Given the description of an element on the screen output the (x, y) to click on. 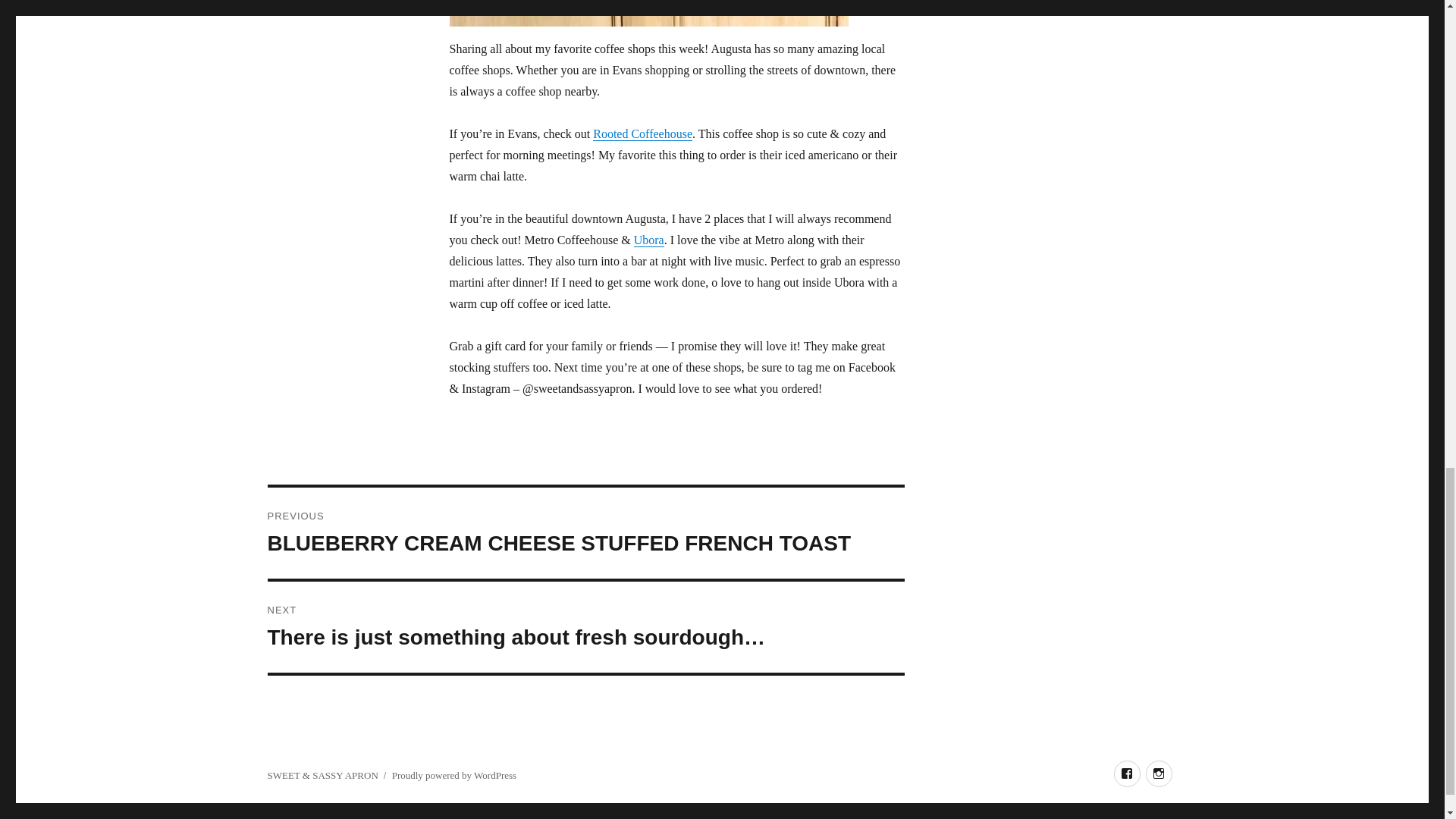
Ubora (648, 239)
Rooted Coffeehouse (642, 133)
Proudly powered by WordPress (453, 775)
